Given the description of an element on the screen output the (x, y) to click on. 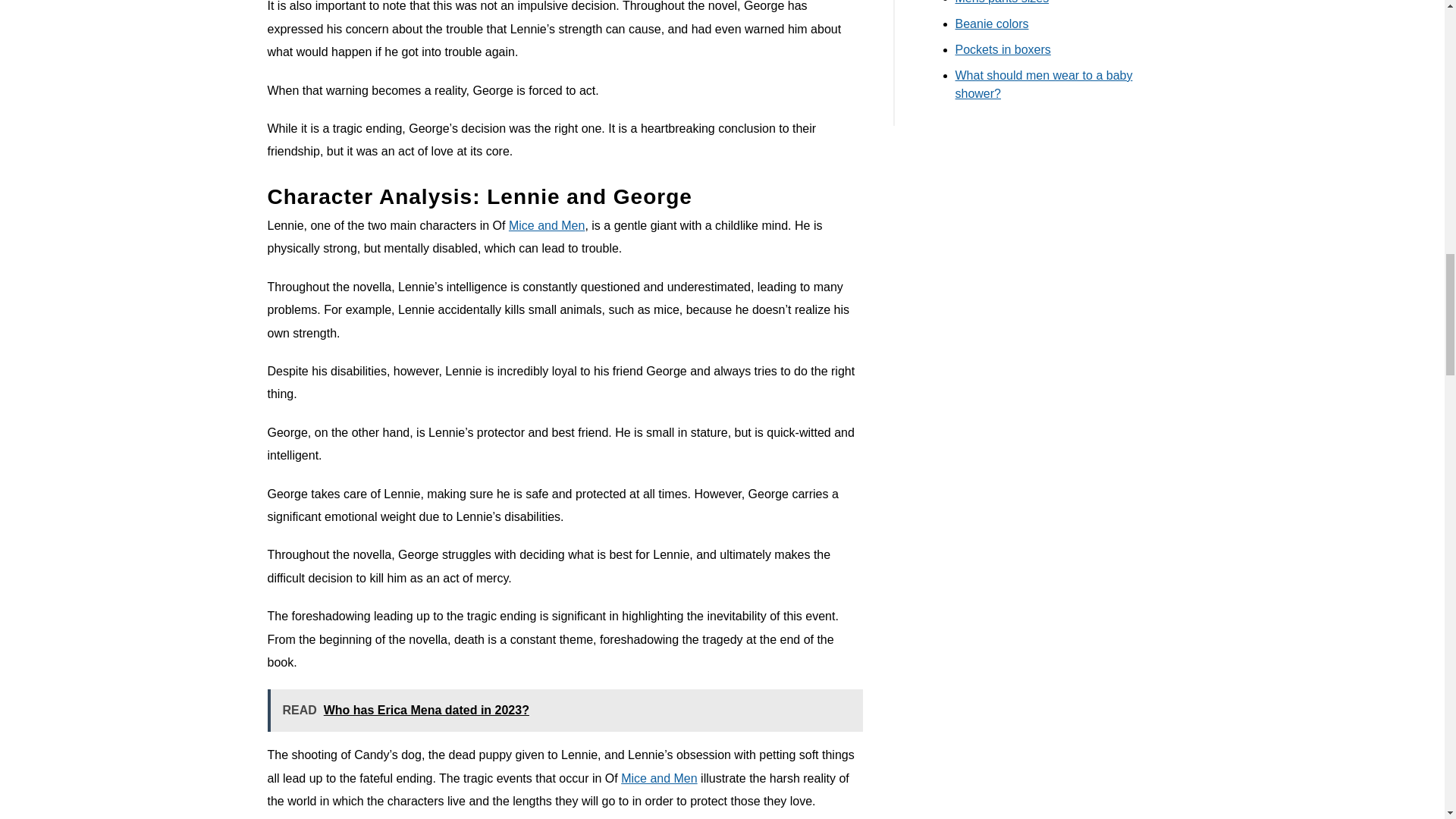
Mice and Men (546, 225)
Mice and Men (659, 778)
READ  Who has Erica Mena dated in 2023? (563, 710)
